Given the description of an element on the screen output the (x, y) to click on. 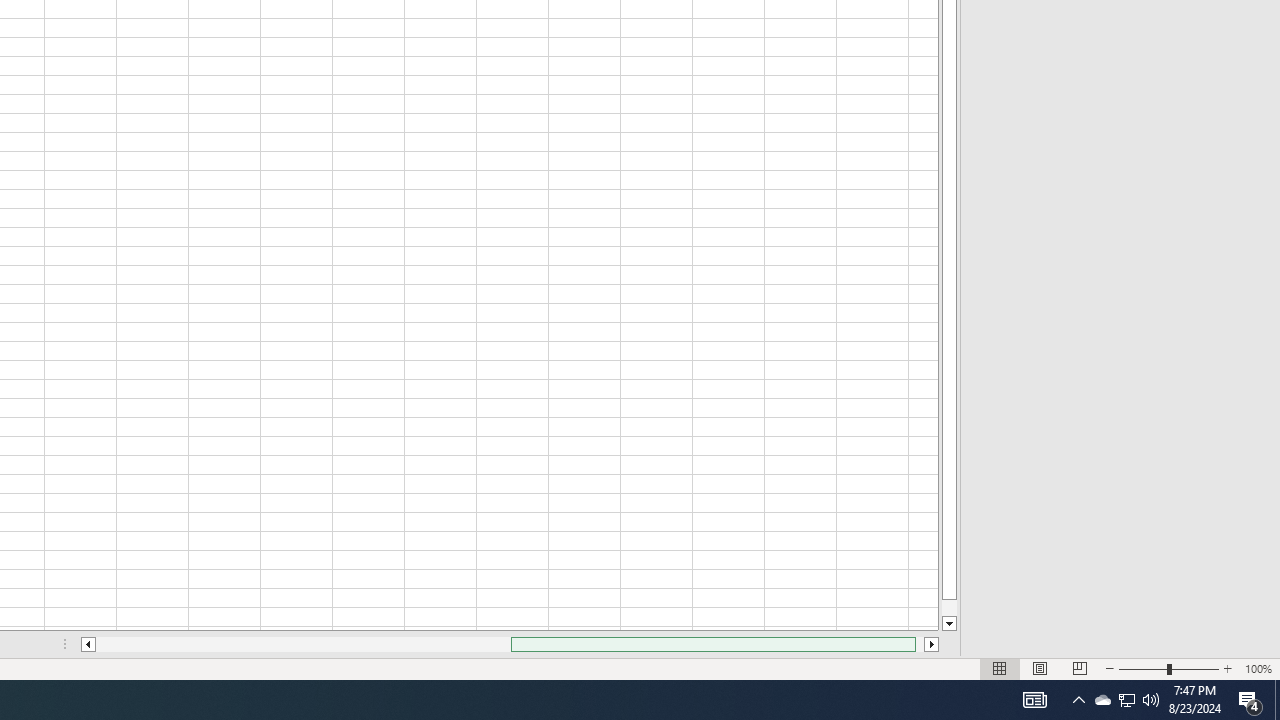
Page left (303, 644)
